Given the description of an element on the screen output the (x, y) to click on. 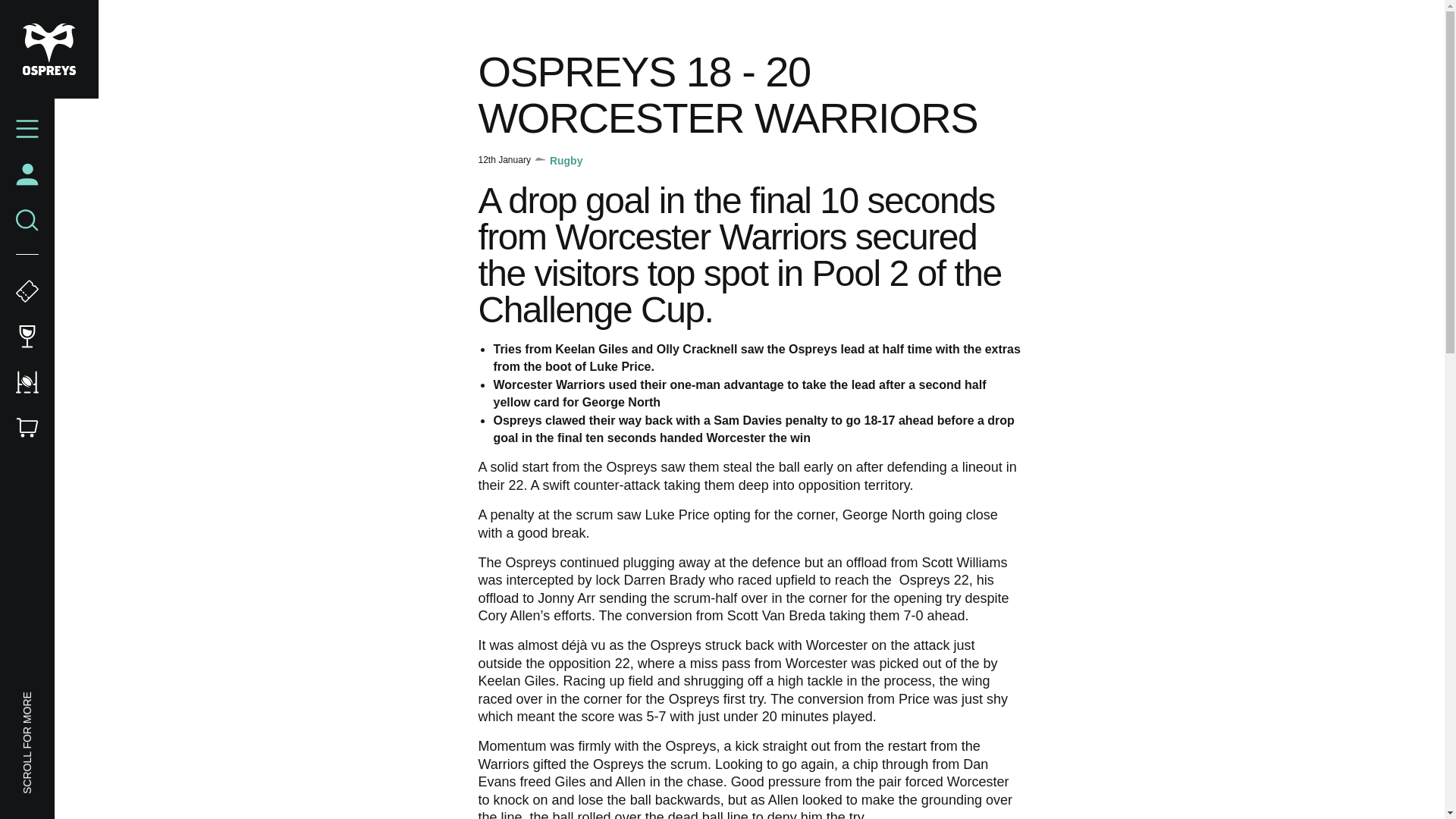
Menu Closed (27, 128)
Search (27, 219)
Menu Closed (27, 128)
Search (27, 219)
SCROLL FOR MORE (71, 699)
